Given the description of an element on the screen output the (x, y) to click on. 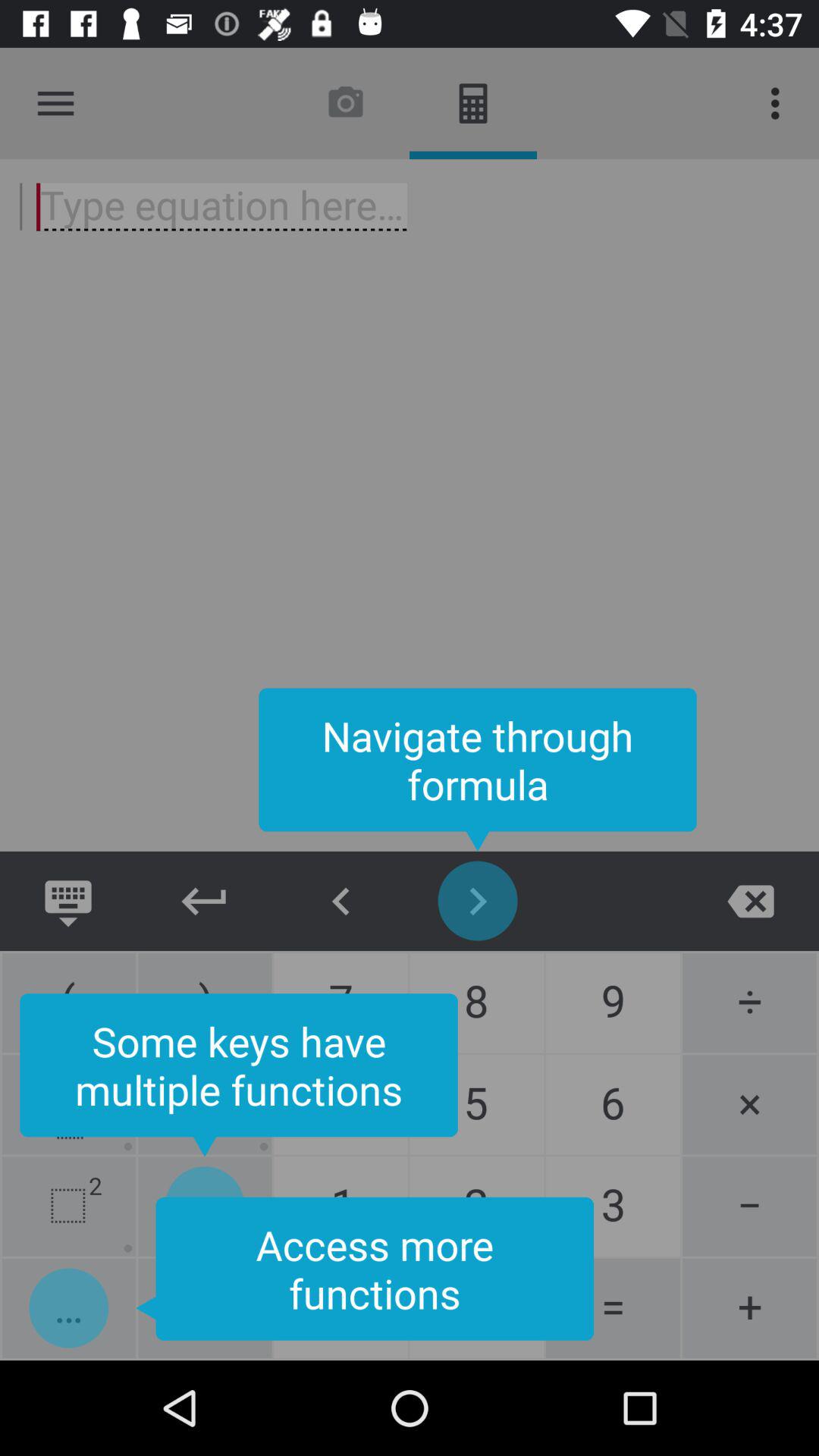
access menu (55, 103)
